Given the description of an element on the screen output the (x, y) to click on. 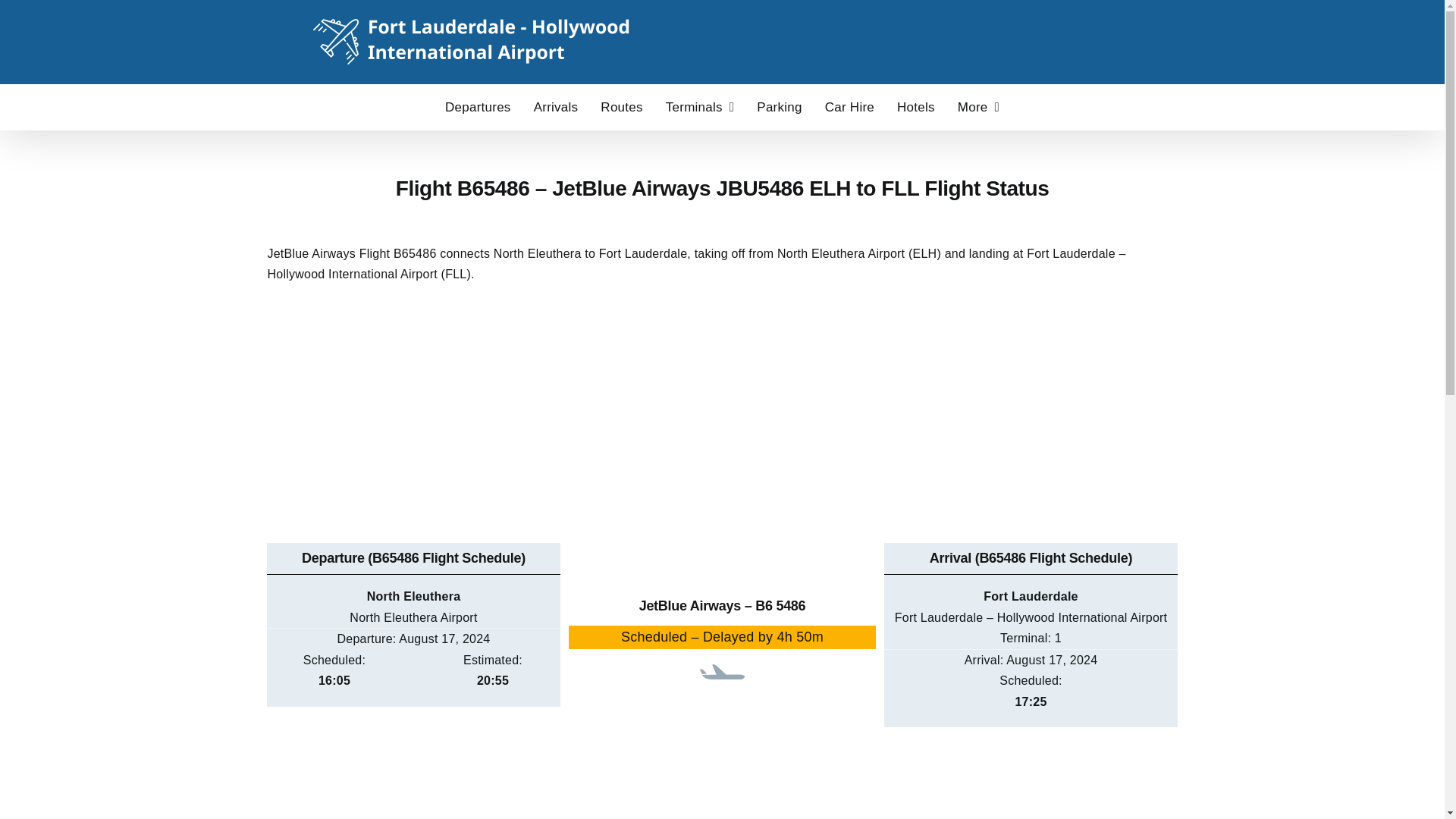
Departures (478, 106)
More (978, 106)
Terminals (700, 106)
FLL Arrivals (556, 106)
Parking (779, 106)
FLL Car Hire (850, 106)
Routes (620, 106)
Arrivals (556, 106)
Car Hire (850, 106)
FLL Routes (620, 106)
